Given the description of an element on the screen output the (x, y) to click on. 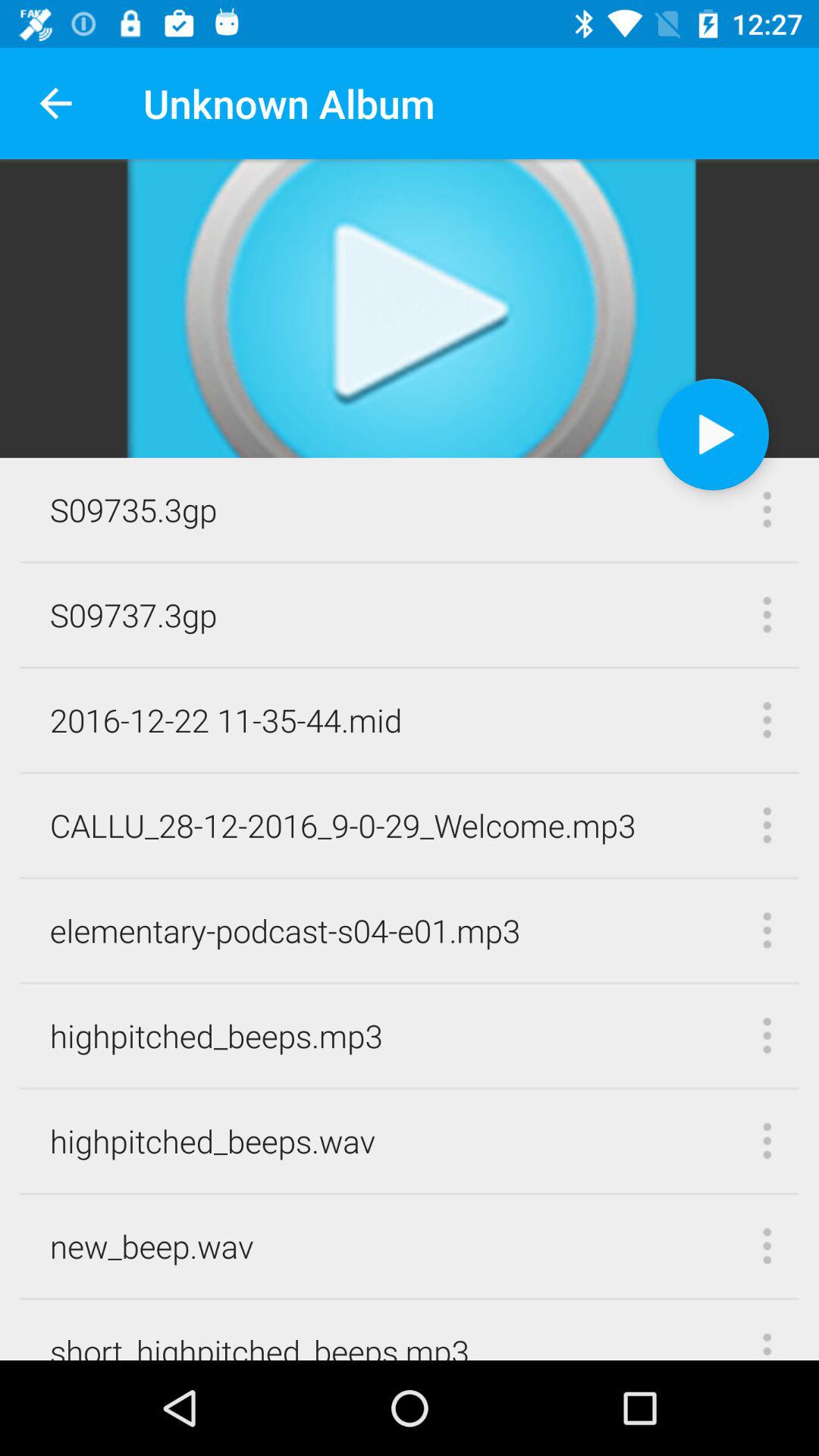
scroll to the s09735.3gp item (133, 509)
